Given the description of an element on the screen output the (x, y) to click on. 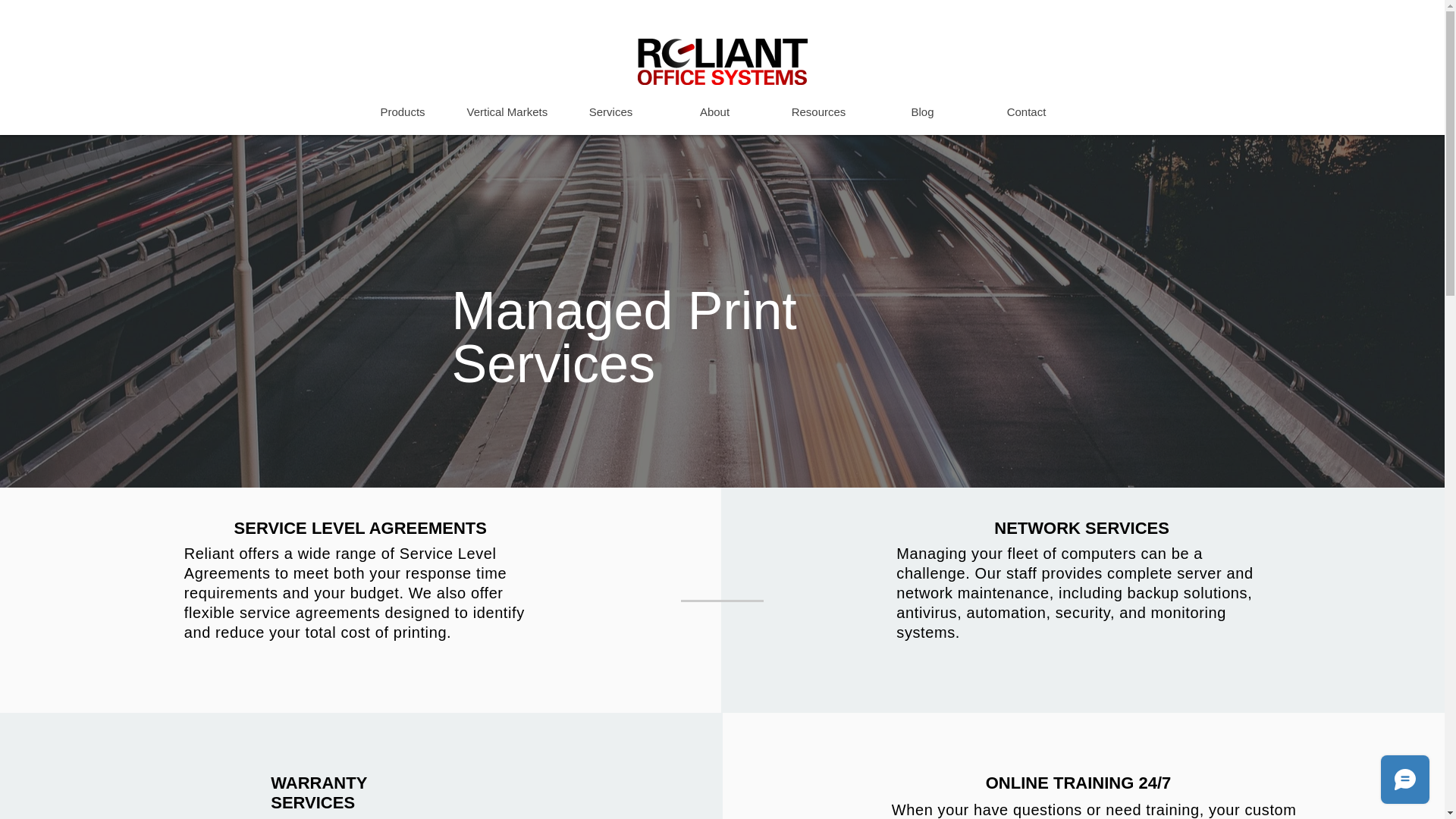
Services (609, 111)
About (714, 111)
Blog (922, 111)
Contact (1025, 111)
Vertical Markets (506, 111)
